Given the description of an element on the screen output the (x, y) to click on. 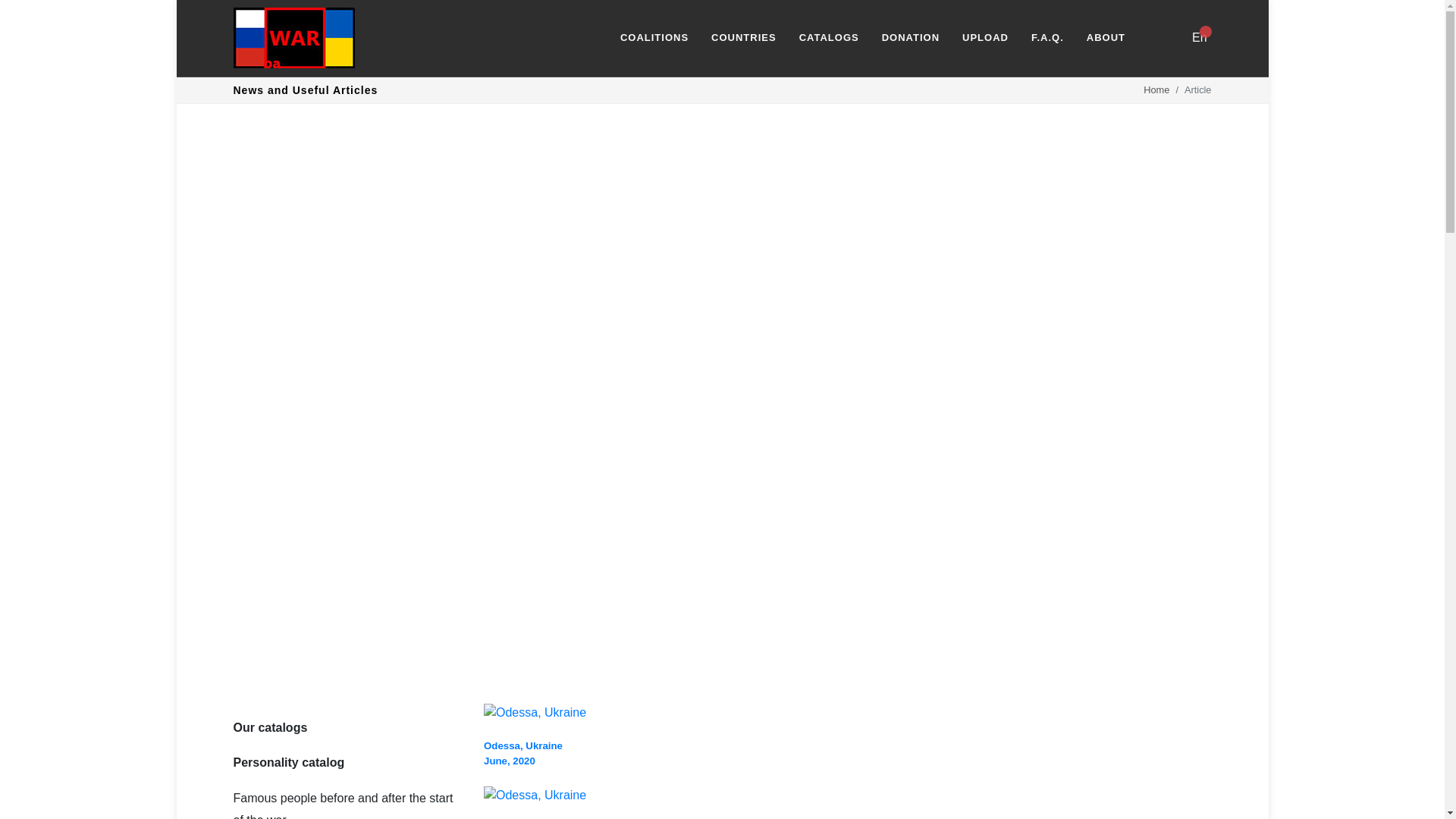
F.A.Q. (1046, 38)
DONATION (909, 38)
Home (1155, 89)
En (1198, 38)
ABOUT (1104, 38)
Before-WAR-After.com (293, 37)
COALITIONS (653, 38)
UPLOAD (985, 38)
CATALOGS (522, 753)
COUNTRIES (828, 38)
